Given the description of an element on the screen output the (x, y) to click on. 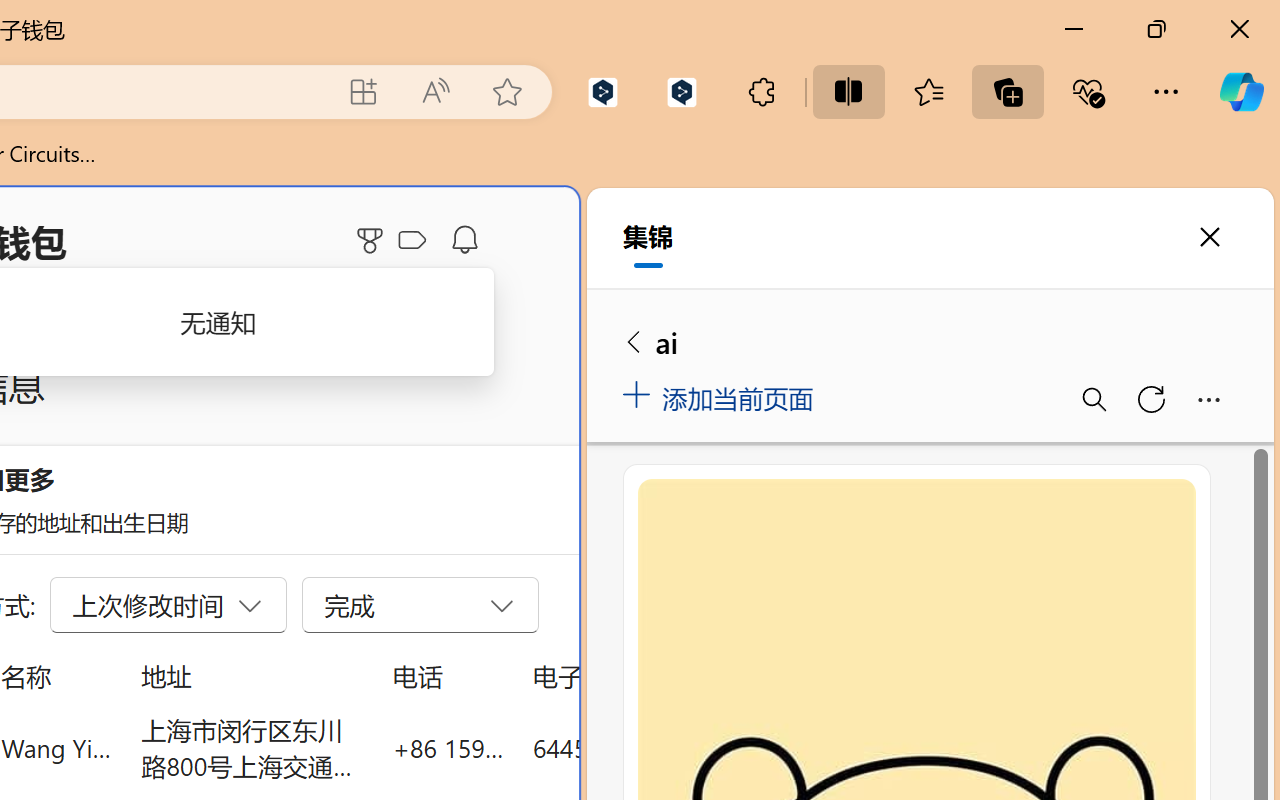
Microsoft Cashback (415, 241)
Copilot (Ctrl+Shift+.) (1241, 91)
